Given the description of an element on the screen output the (x, y) to click on. 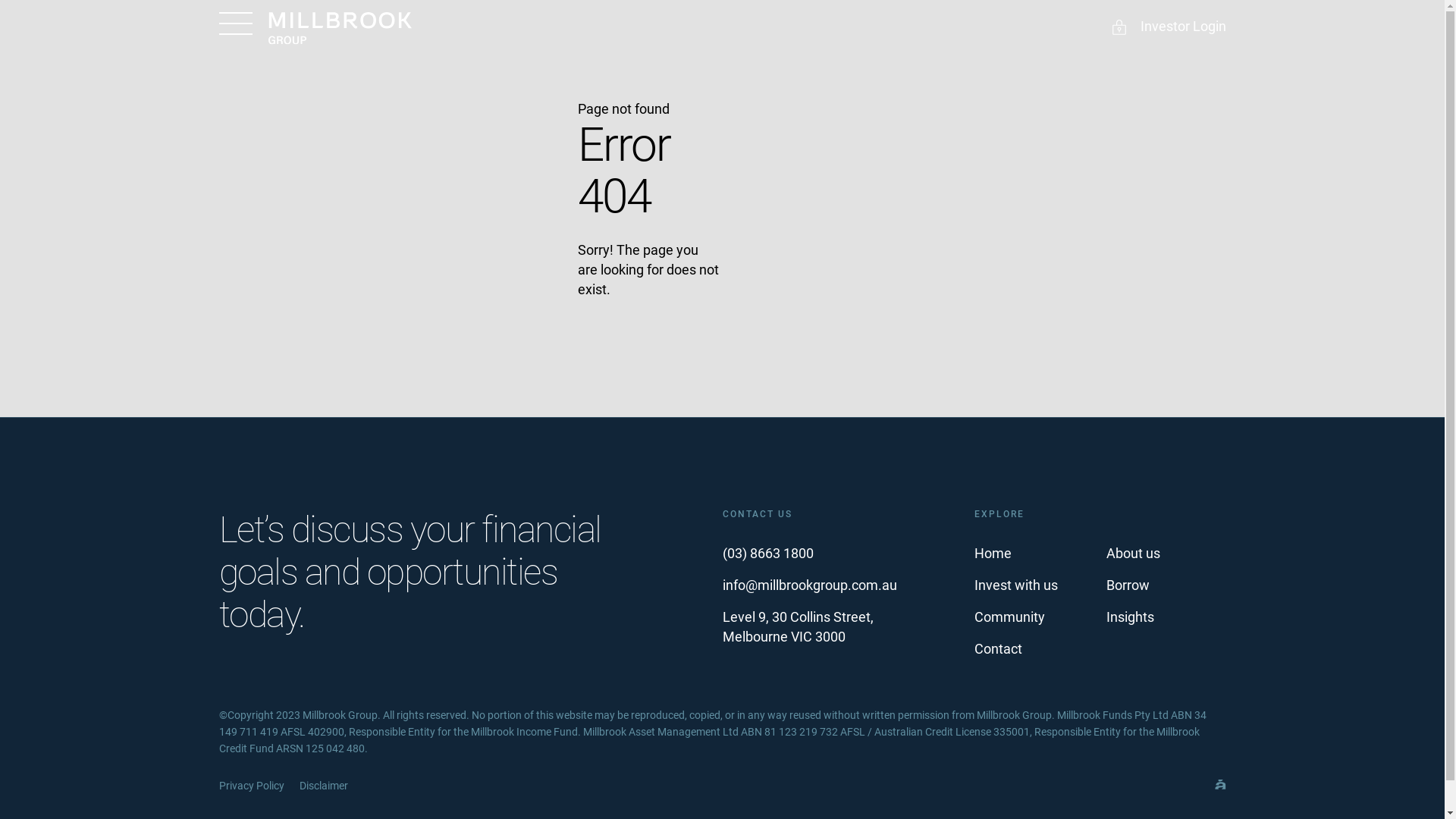
Contact Element type: text (997, 648)
Borrow Element type: text (1126, 585)
Invest with us Element type: text (1015, 585)
Investor Login Element type: text (1168, 27)
(03) 8663 1800 Element type: text (766, 553)
Level 9, 30 Collins Street,
Melbourne VIC 3000 Element type: text (796, 626)
Privacy Policy Element type: text (250, 785)
Disclaimer Element type: text (322, 785)
Built by Caramel Creative Element type: hover (1220, 791)
About us Element type: text (1132, 553)
Millbrook home page Element type: hover (339, 28)
Community Element type: text (1008, 616)
Home Element type: text (991, 553)
Insights Element type: text (1129, 616)
info@millbrookgroup.com.au Element type: text (808, 585)
